Given the description of an element on the screen output the (x, y) to click on. 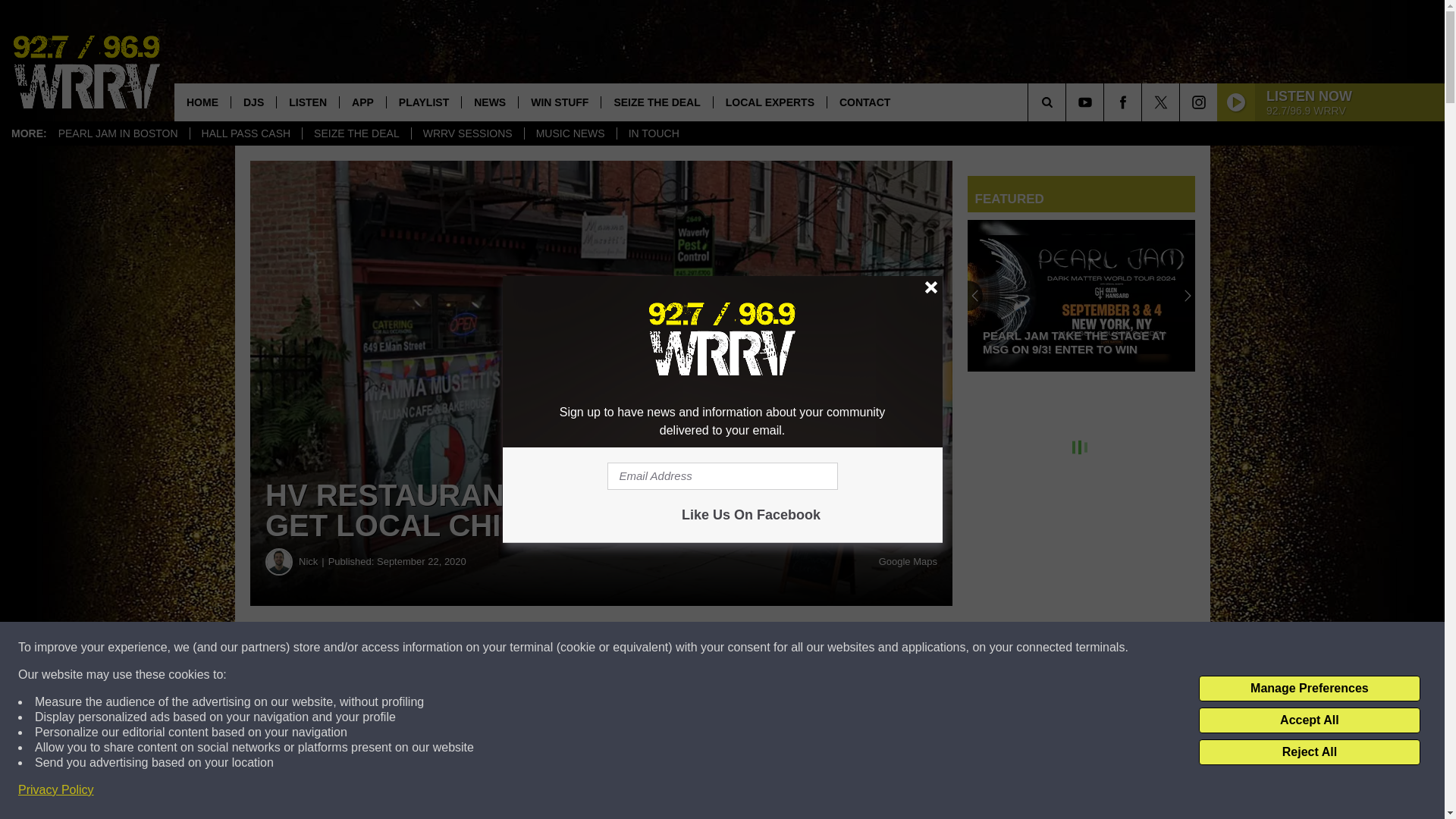
APP (362, 102)
SEARCH (1068, 102)
WRRV SESSIONS (467, 133)
PEARL JAM IN BOSTON (117, 133)
MUSIC NEWS (569, 133)
NEWS (489, 102)
Privacy Policy (55, 789)
DJS (253, 102)
HALL PASS CASH (245, 133)
HOME (202, 102)
Accept All (1309, 720)
PLAYLIST (423, 102)
Reject All (1309, 751)
SEIZE THE DEAL (655, 102)
IN TOUCH (652, 133)
